Given the description of an element on the screen output the (x, y) to click on. 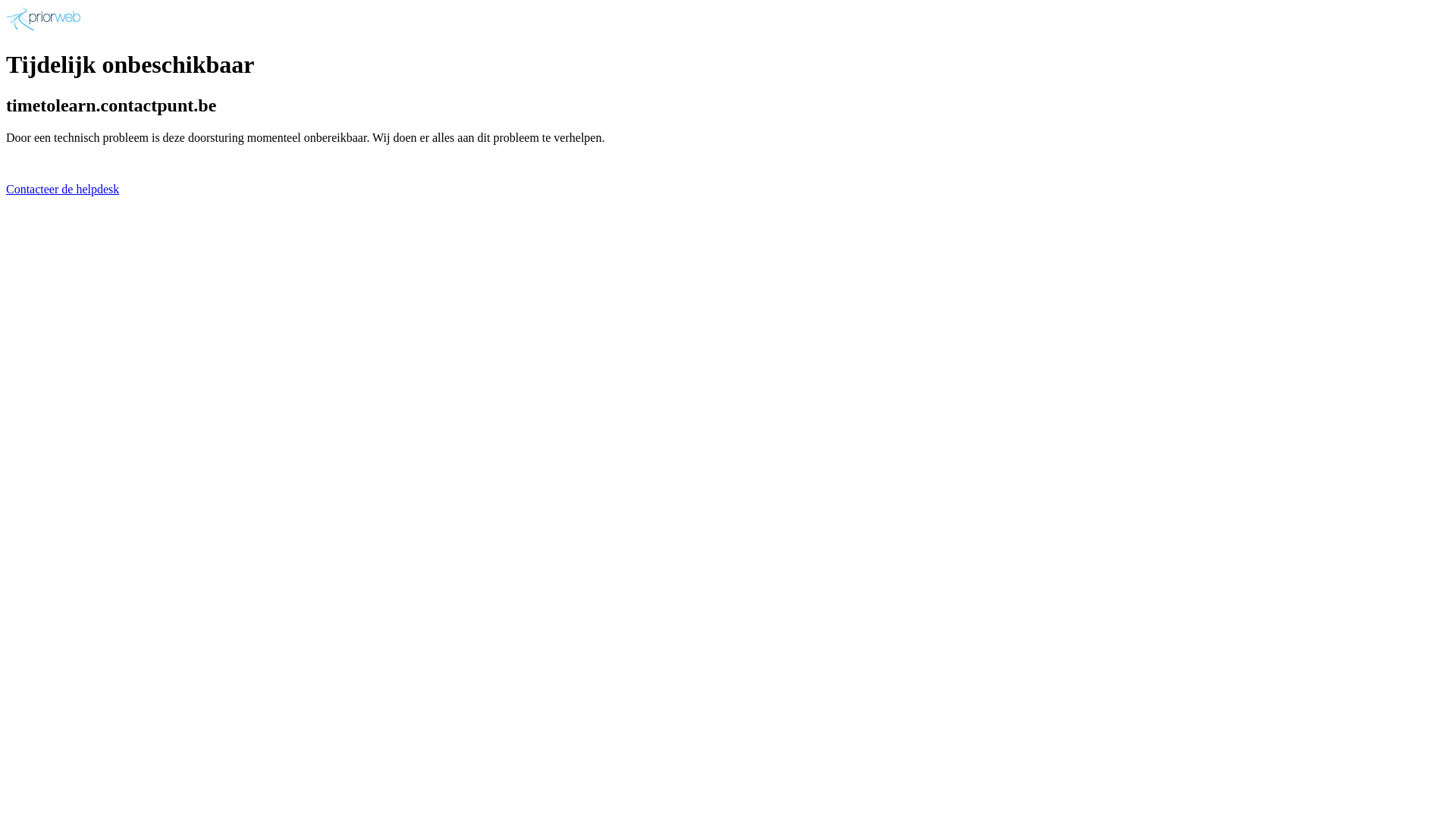
Contacteer de helpdesk Element type: text (62, 188)
